Given the description of an element on the screen output the (x, y) to click on. 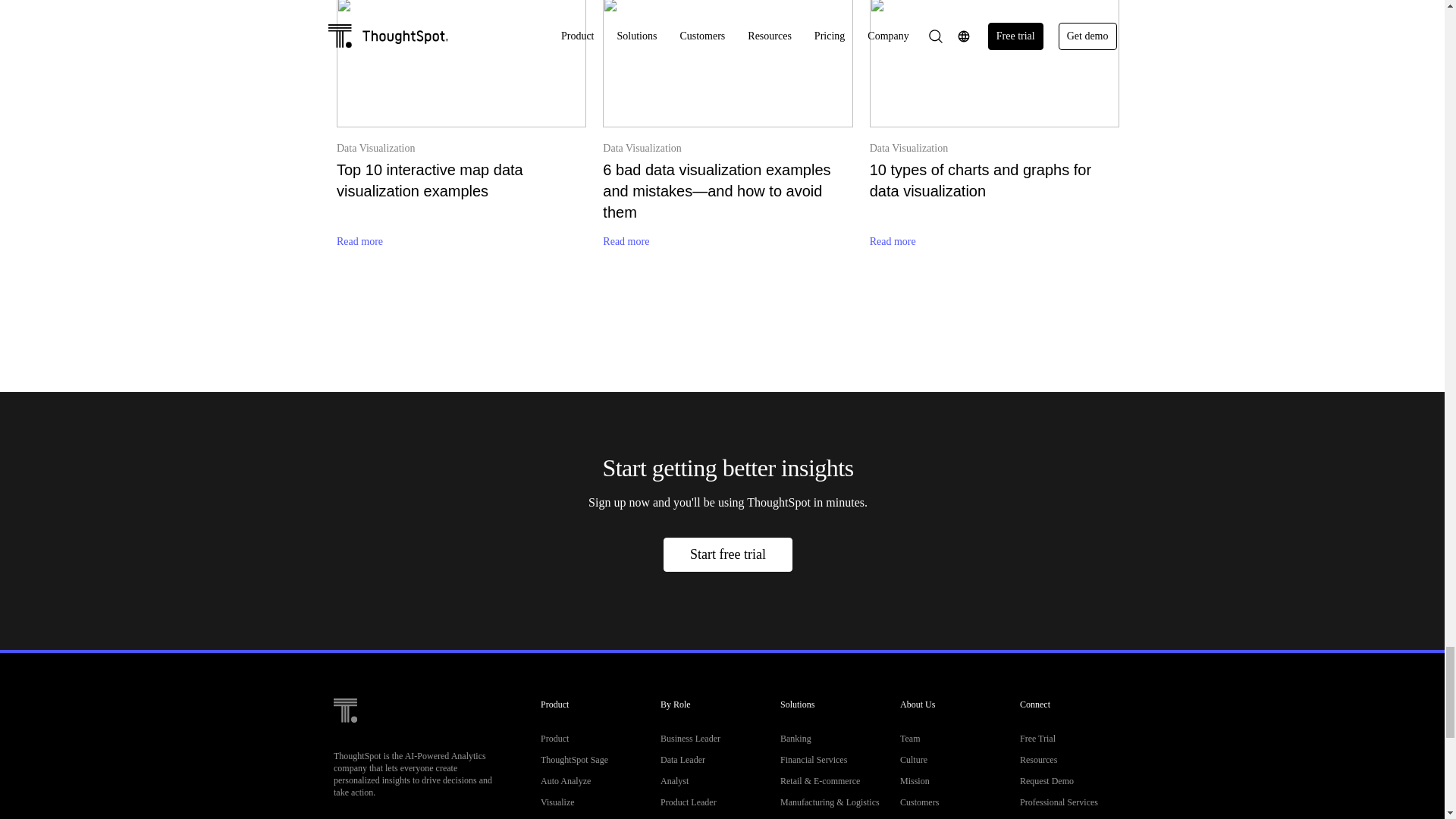
ThoughtSpot home page (344, 733)
